Given the description of an element on the screen output the (x, y) to click on. 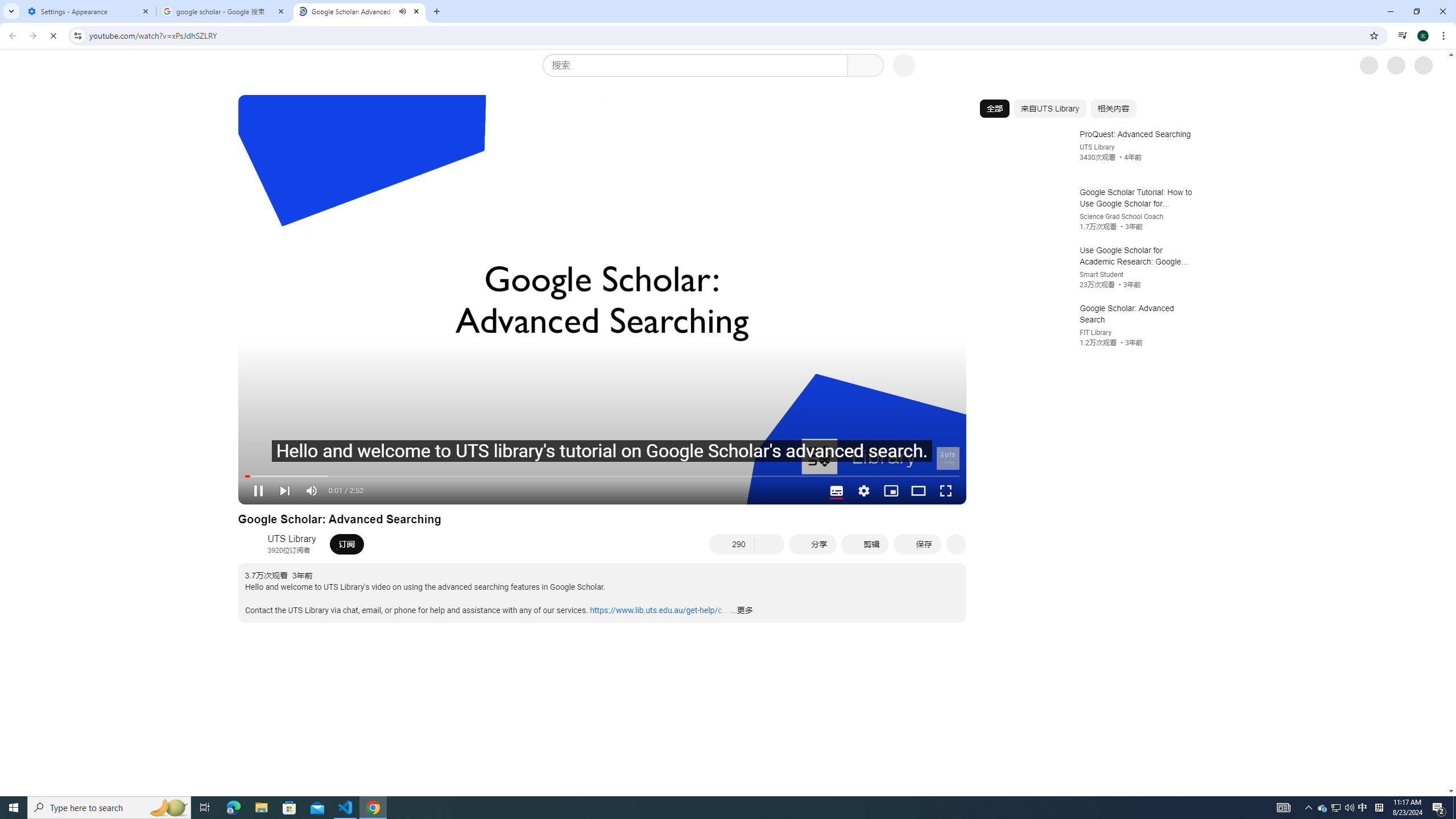
UTS Library (291, 538)
